Given the description of an element on the screen output the (x, y) to click on. 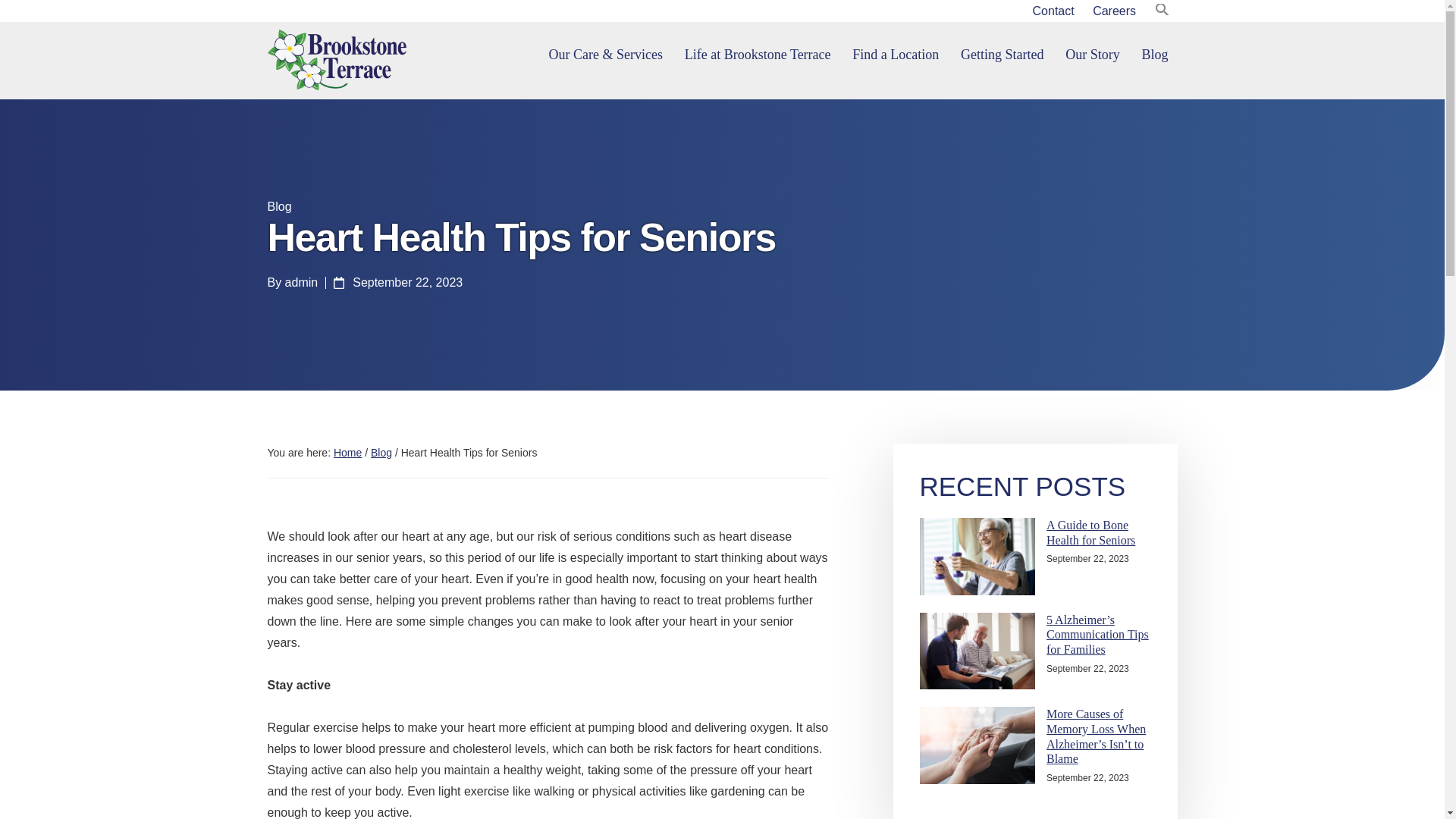
Life at Brookstone Terrace (757, 54)
Careers (1113, 10)
Contact (1053, 10)
